Given the description of an element on the screen output the (x, y) to click on. 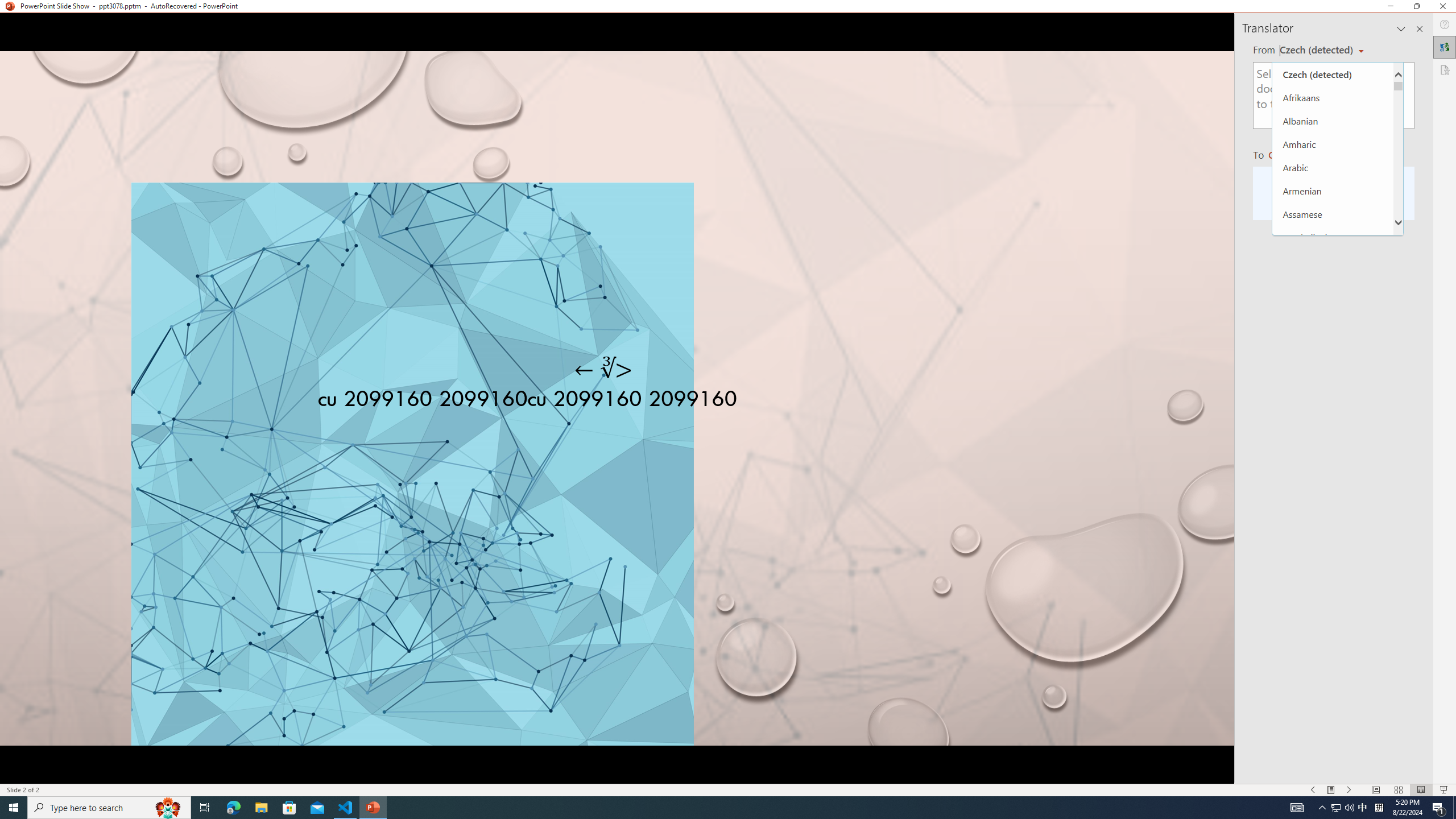
wangyian_dsw - DSW (23, 183)
